Given the description of an element on the screen output the (x, y) to click on. 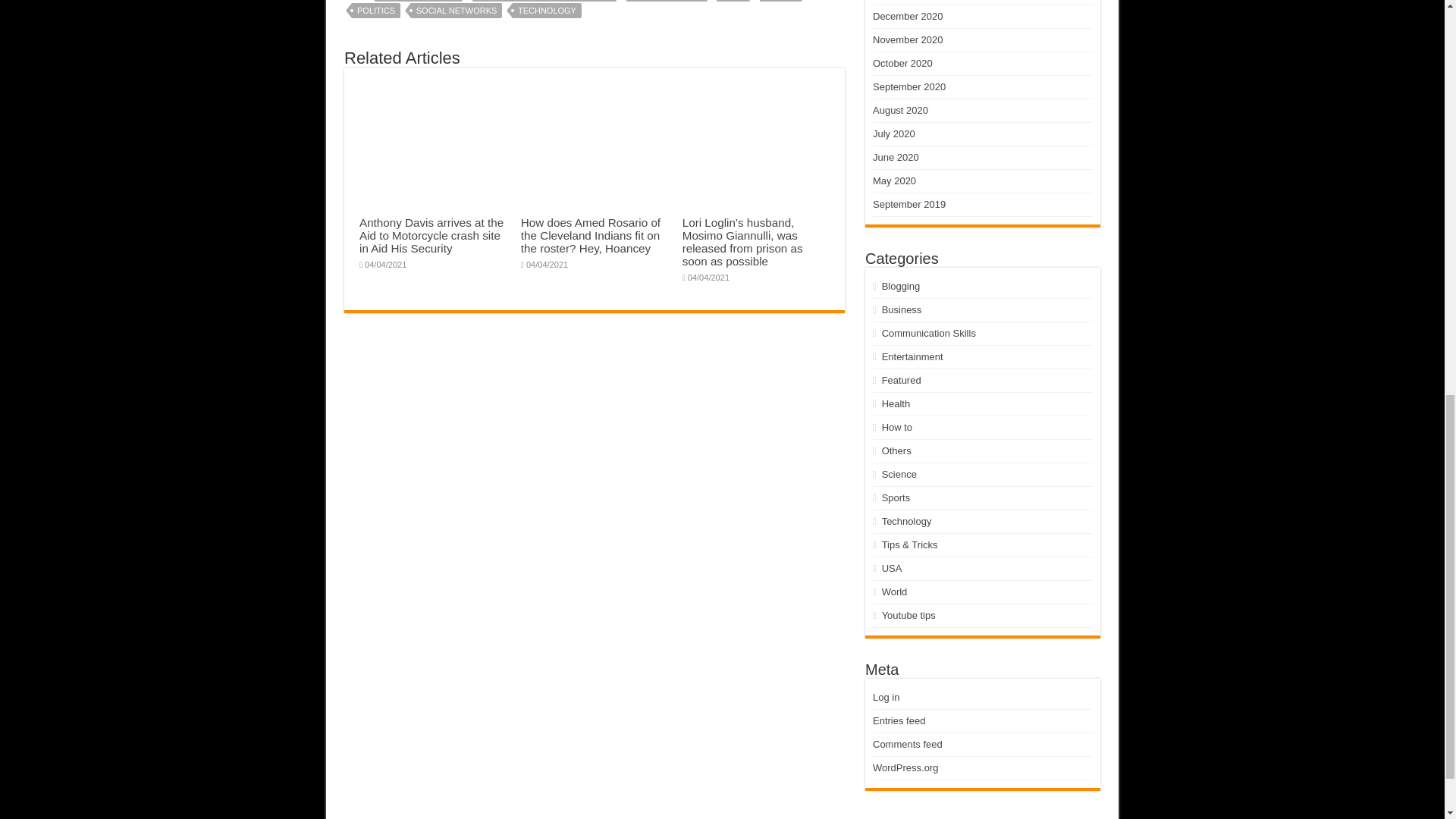
POLITICS (376, 10)
BUSINESS NEWS (667, 0)
BREAKING NEWS: TECHNOLOGY (545, 0)
TECHNOLOGY (546, 10)
SOCIAL NETWORKS (456, 10)
DEAL (733, 0)
Scroll To Top (1421, 60)
MOBILE (781, 0)
AMAZON.COM INC. (419, 0)
